Given the description of an element on the screen output the (x, y) to click on. 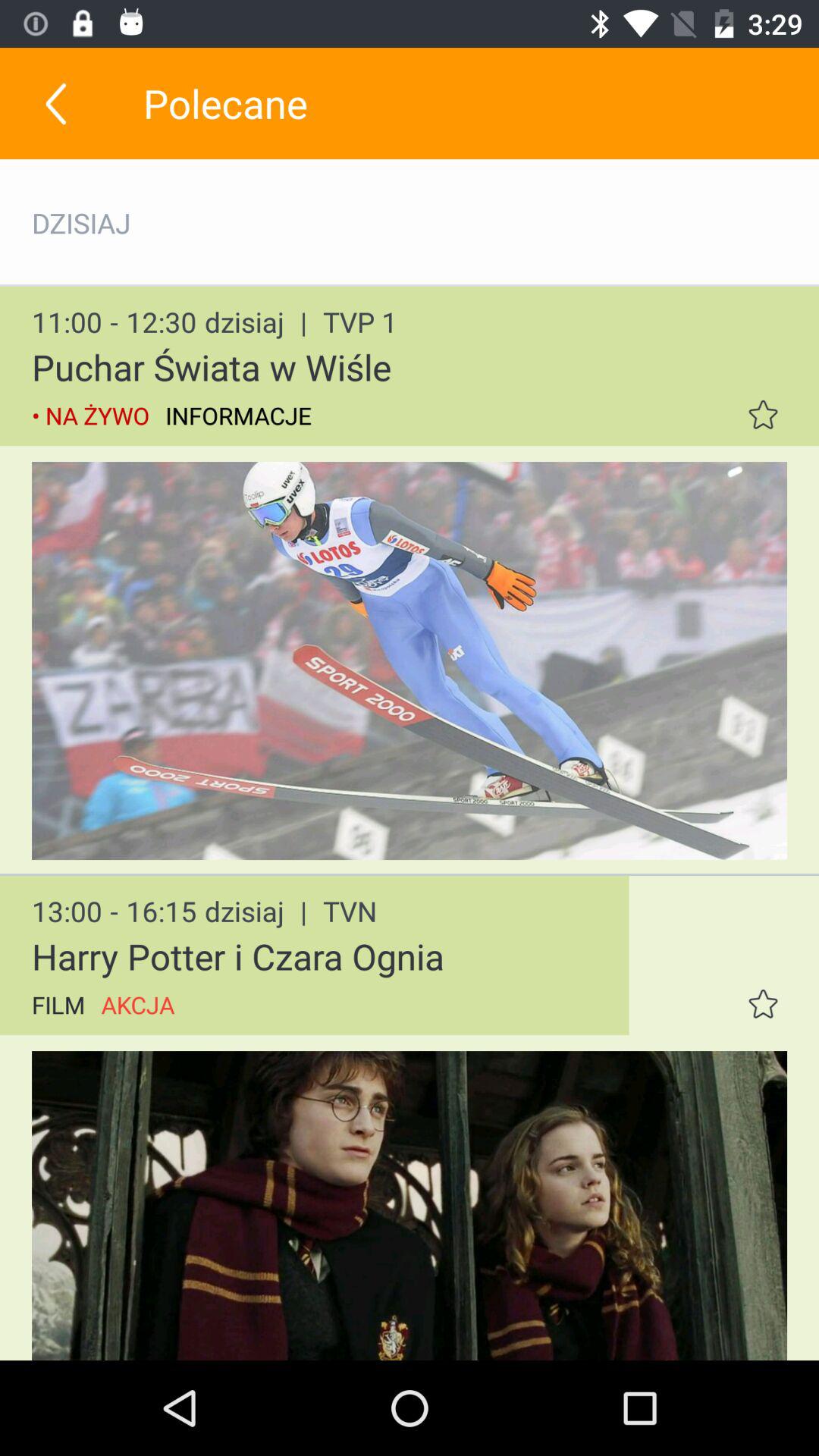
tap the item to the left of polecane (55, 103)
